Given the description of an element on the screen output the (x, y) to click on. 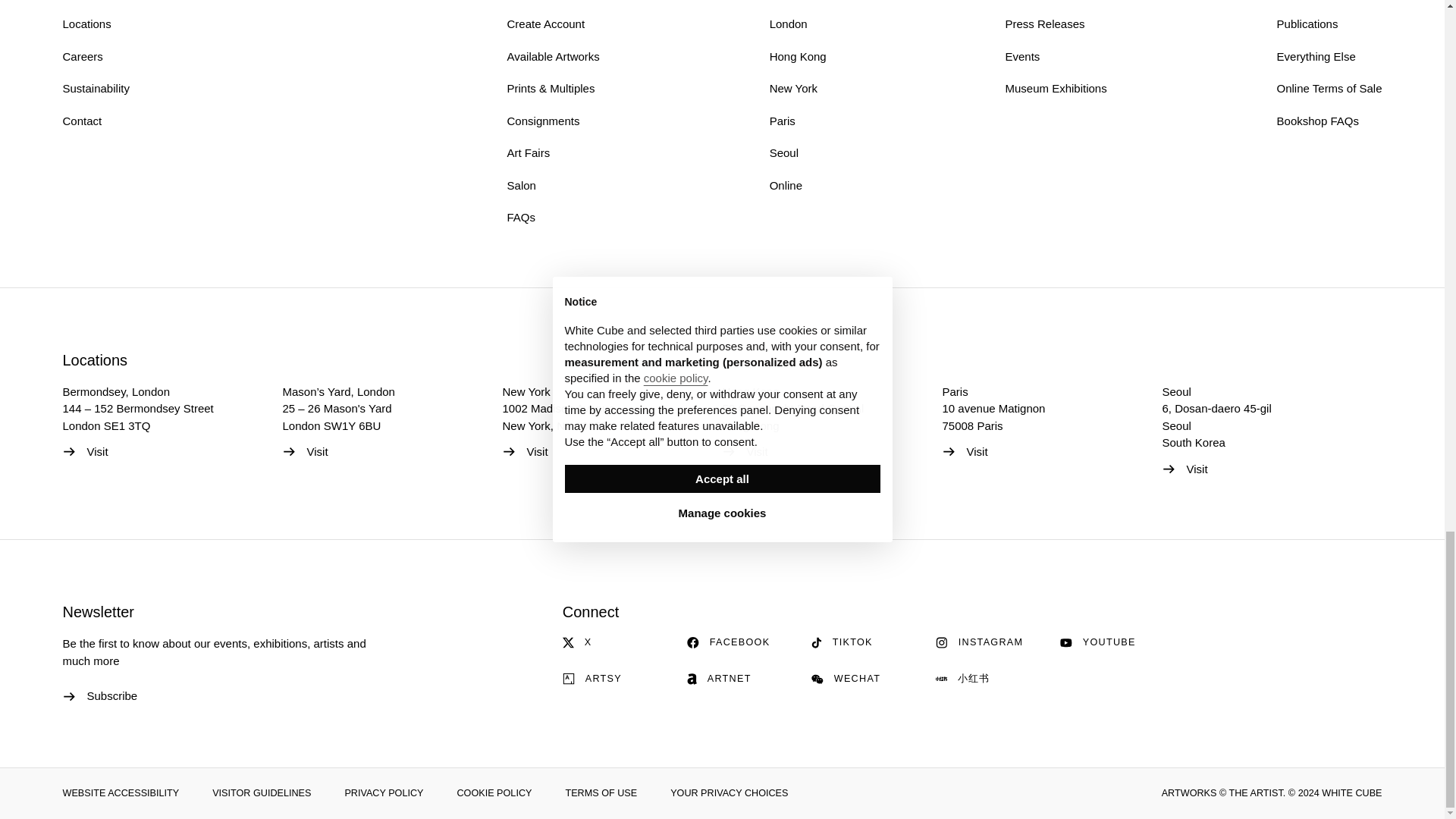
Learn more about White Cube Hong Kong (744, 452)
FAQs (520, 216)
Go to the White Cube profile page on X (615, 642)
Create Account (545, 23)
View White Cube gallery locations (95, 360)
Learn more about White Cube New York (524, 452)
Go to the White Cube profile page on YouTube (1112, 642)
Careers (81, 56)
Available Artworks (552, 56)
Click here to subscribe to our newsletter (99, 696)
Locations (86, 23)
Art Fairs (528, 152)
Learn more about White Cube Paris (964, 452)
Go to the White Cube profile page on Facebook (740, 642)
Go to the White Cube profile page on Instagram (989, 642)
